Given the description of an element on the screen output the (x, y) to click on. 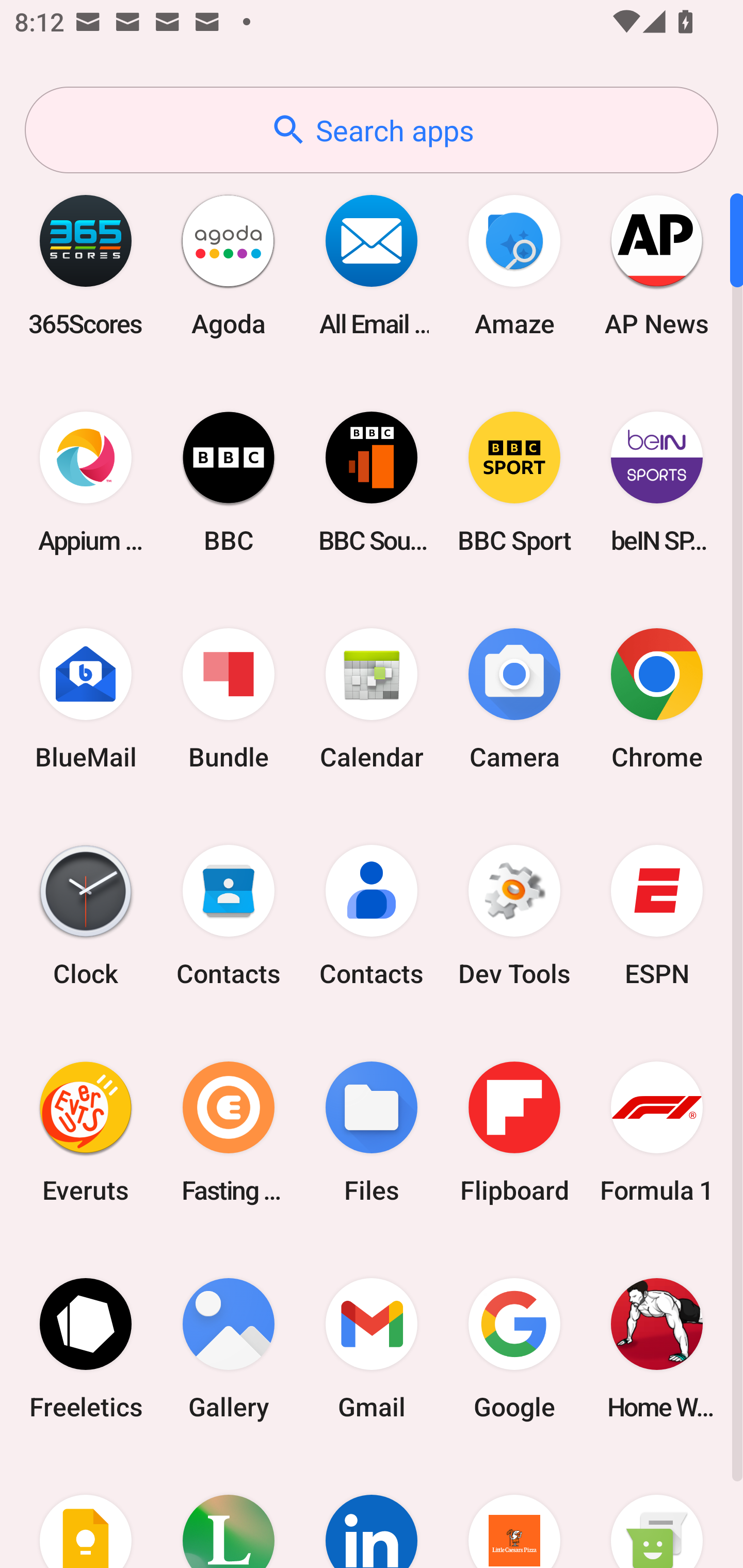
  Search apps (371, 130)
365Scores (85, 264)
Agoda (228, 264)
All Email Connect (371, 264)
Amaze (514, 264)
AP News (656, 264)
Appium Settings (85, 482)
BBC (228, 482)
BBC Sounds (371, 482)
BBC Sport (514, 482)
beIN SPORTS (656, 482)
BlueMail (85, 699)
Bundle (228, 699)
Calendar (371, 699)
Camera (514, 699)
Chrome (656, 699)
Clock (85, 915)
Contacts (228, 915)
Contacts (371, 915)
Dev Tools (514, 915)
ESPN (656, 915)
Everuts (85, 1131)
Fasting Coach (228, 1131)
Files (371, 1131)
Flipboard (514, 1131)
Formula 1 (656, 1131)
Freeletics (85, 1348)
Gallery (228, 1348)
Gmail (371, 1348)
Google (514, 1348)
Home Workout (656, 1348)
Keep Notes (85, 1512)
Lifesum (228, 1512)
LinkedIn (371, 1512)
Little Caesars Pizza (514, 1512)
Messaging (656, 1512)
